Given the description of an element on the screen output the (x, y) to click on. 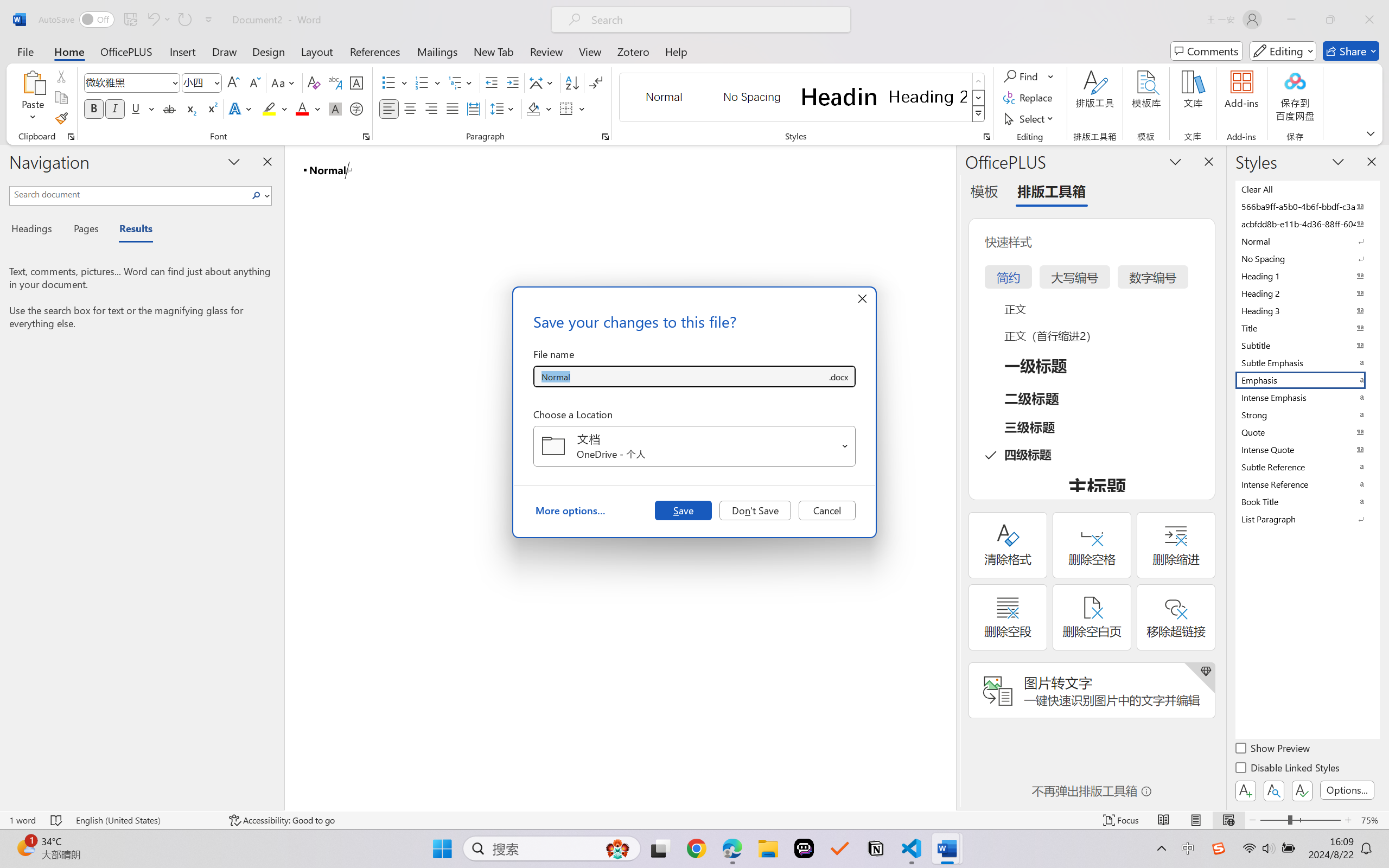
Text Highlight Color (274, 108)
Subscript (190, 108)
Shading RGB(0, 0, 0) (533, 108)
Language English (United States) (144, 819)
Customize Quick Access Toolbar (208, 19)
Bold (94, 108)
Intense Reference (1306, 484)
Text Highlight Color Yellow (269, 108)
